Given the description of an element on the screen output the (x, y) to click on. 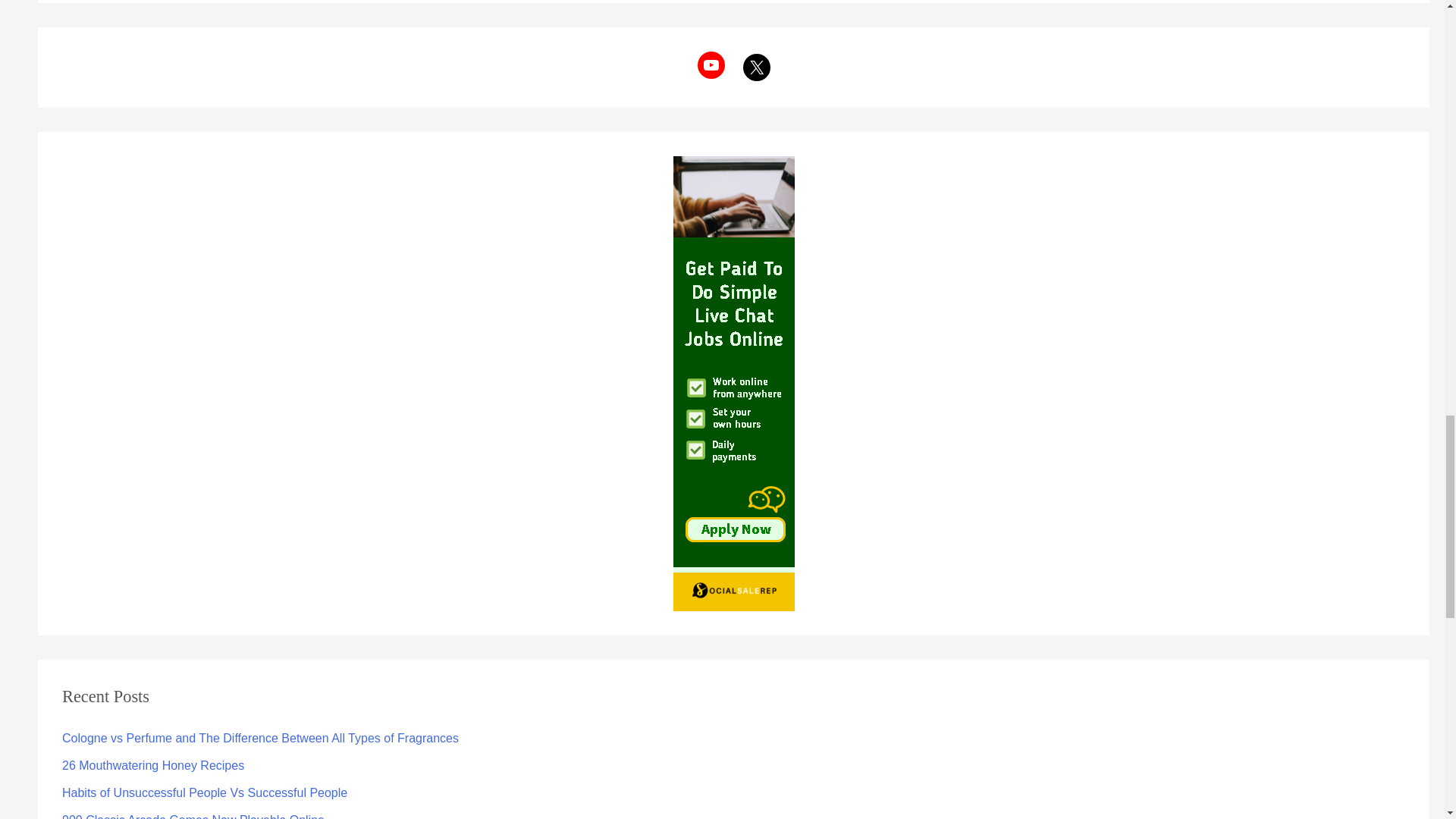
Habits of Unsuccessful People Vs Successful People (204, 792)
900 Classic Arcade Games Now Playable Online (193, 816)
YouTube (711, 64)
26 Mouthwatering Honey Recipes (153, 765)
X (756, 67)
